Given the description of an element on the screen output the (x, y) to click on. 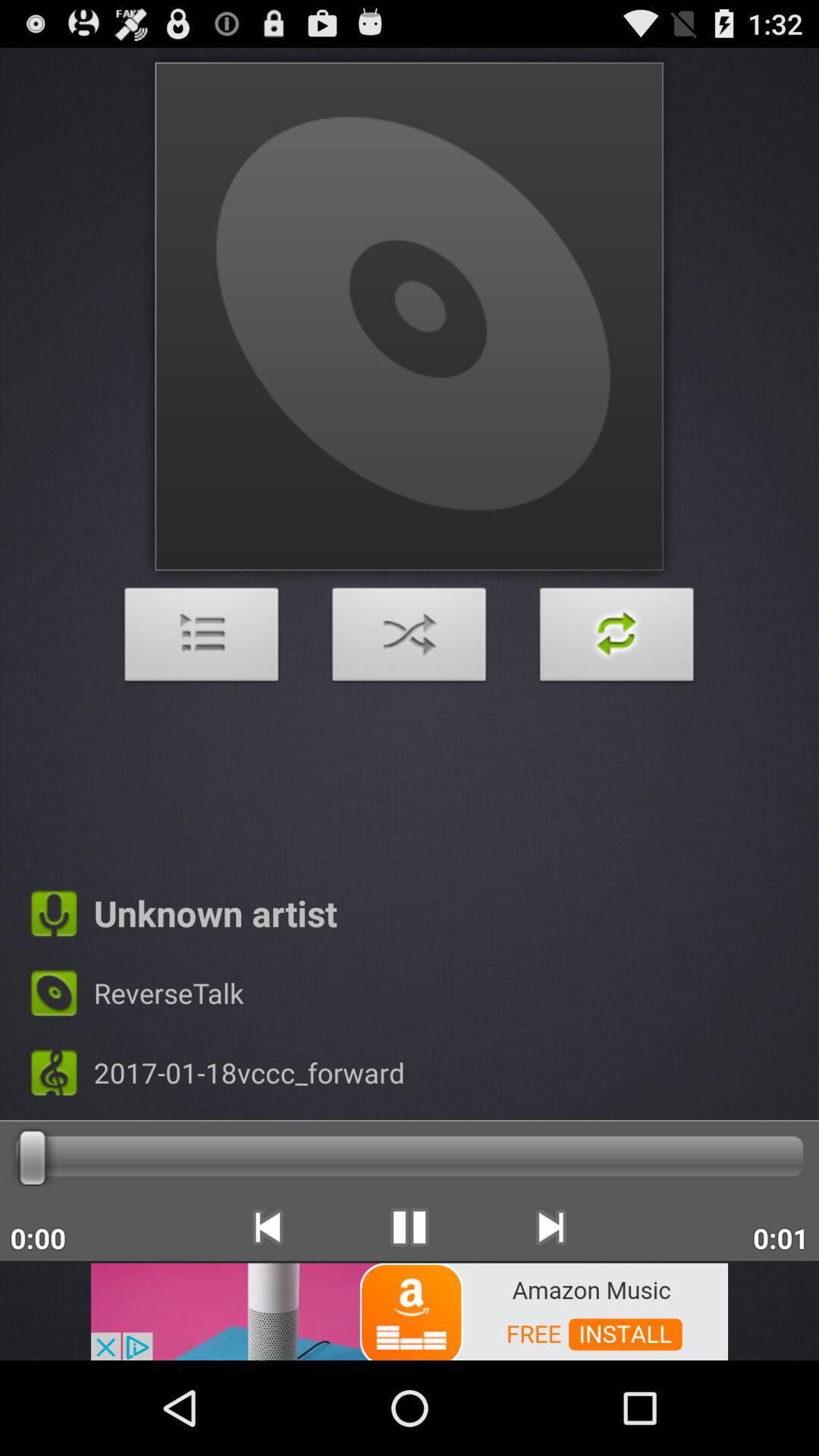
click on the banner (409, 1310)
